Given the description of an element on the screen output the (x, y) to click on. 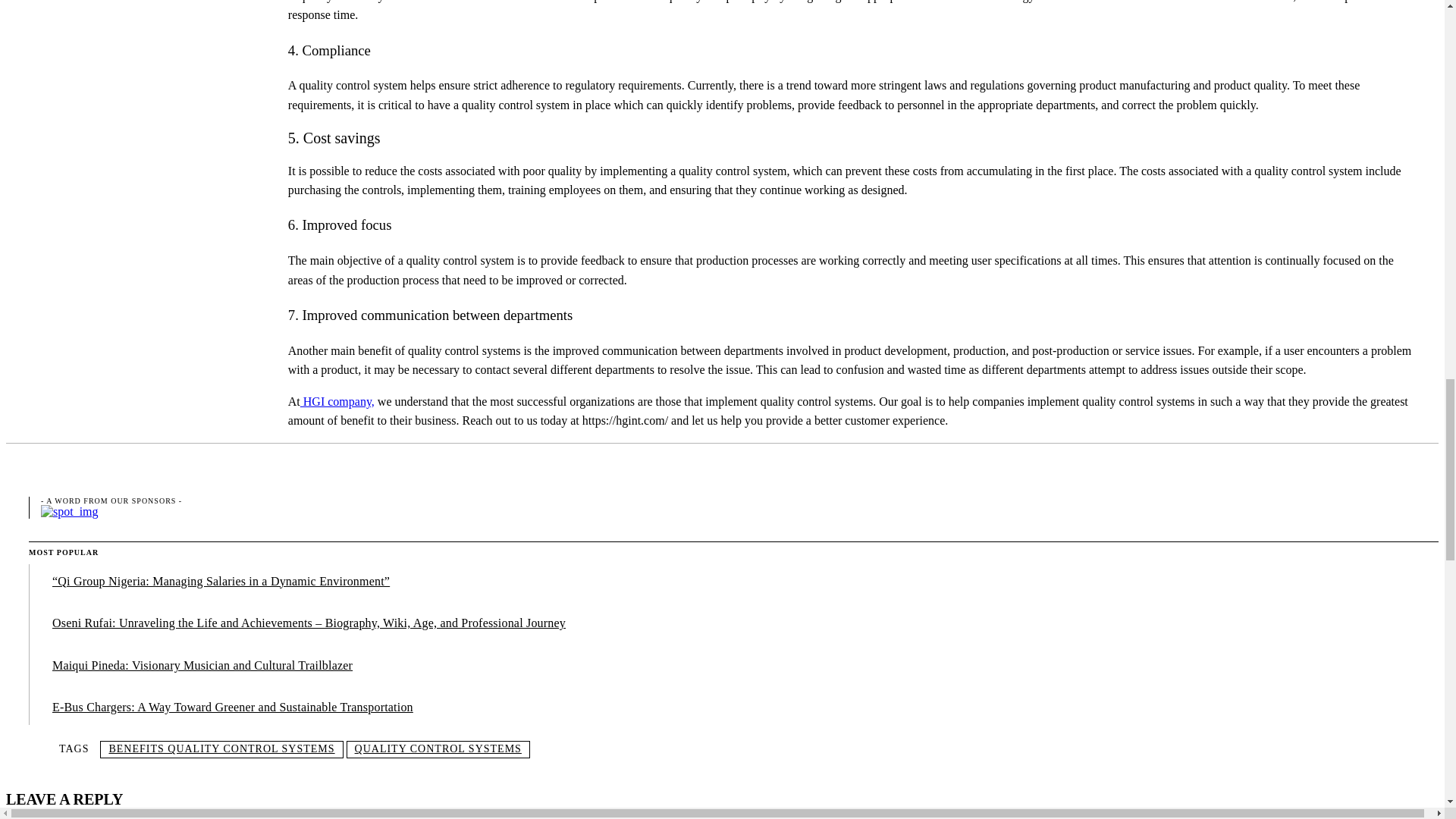
Maiqui Pineda: Visionary Musician and Cultural Trailblazer (202, 665)
Maiqui Pineda: Visionary Musician and Cultural Trailblazer (202, 665)
QUALITY CONTROL SYSTEMS (437, 749)
HGI company, (336, 400)
BENEFITS QUALITY CONTROL SYSTEMS (221, 749)
